Given the description of an element on the screen output the (x, y) to click on. 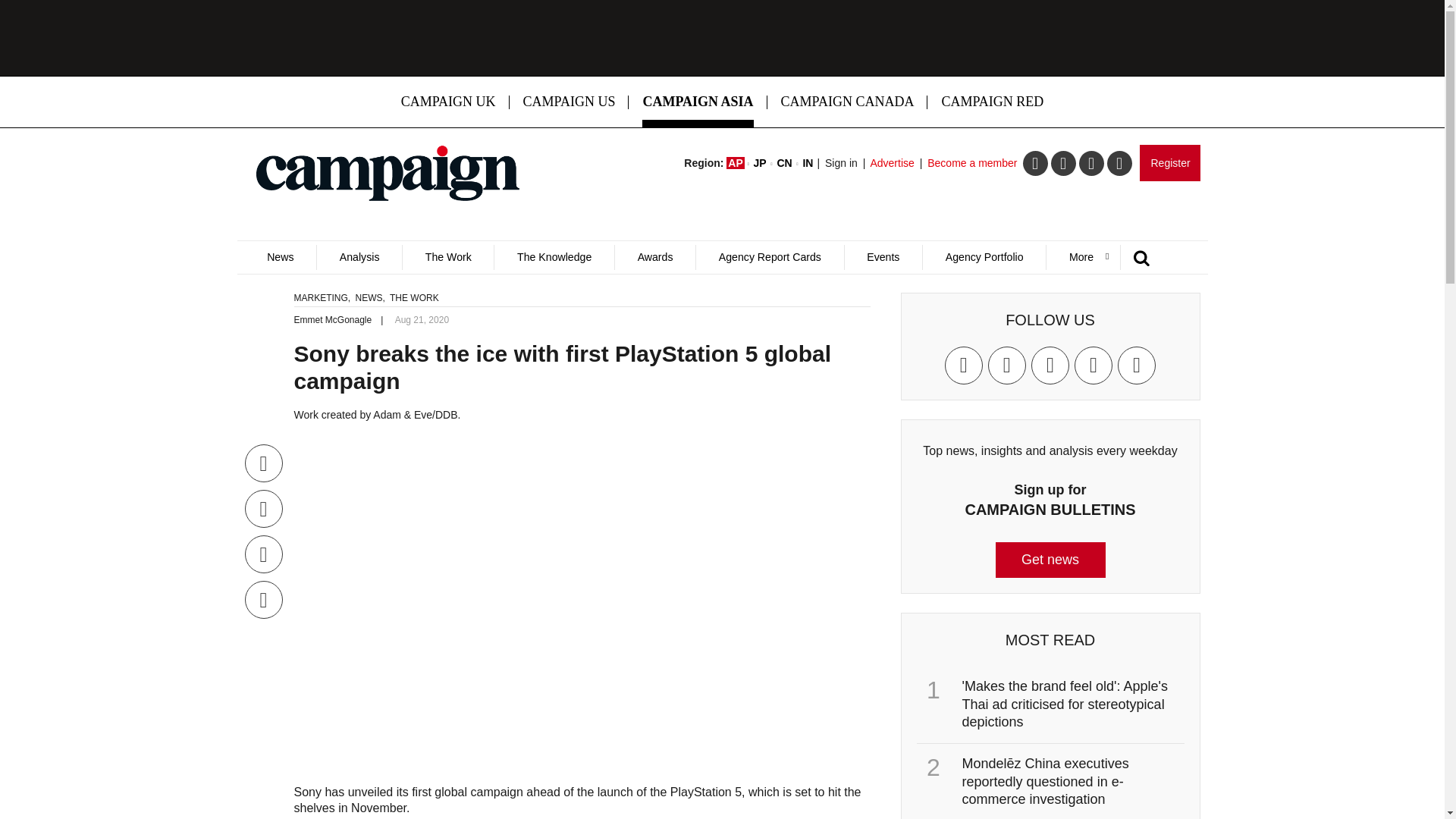
News (279, 257)
Agency Portfolio (983, 257)
Agency Report Cards (769, 257)
Sign in (841, 162)
AP (735, 162)
Events (883, 257)
Agency Report Cards (769, 257)
Advertise (891, 162)
More (1082, 257)
JP (760, 162)
